Given the description of an element on the screen output the (x, y) to click on. 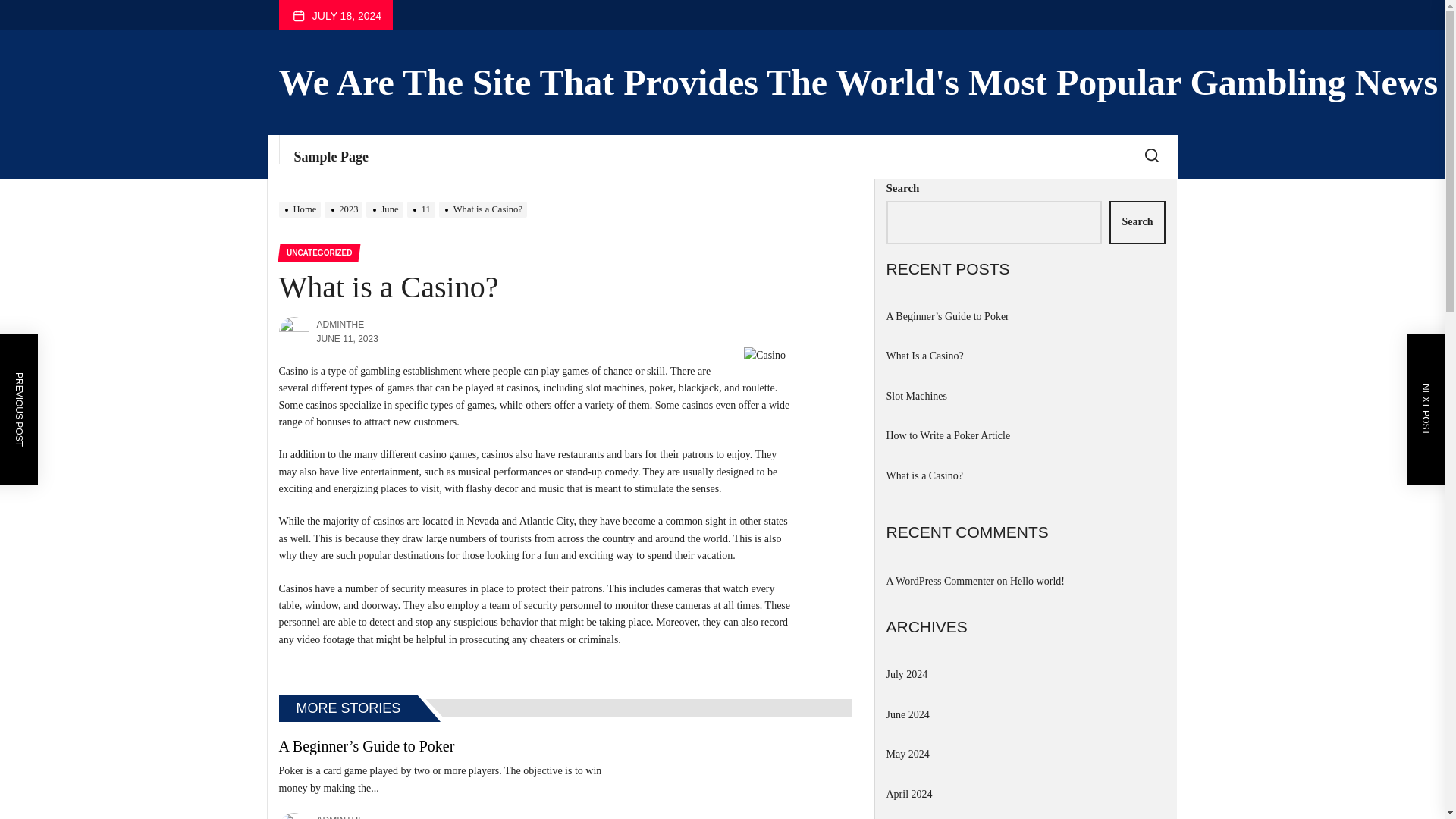
What is a Casino? (485, 208)
2023 (345, 208)
JUNE 11, 2023 (347, 338)
11 (423, 208)
ADMINTHE (341, 324)
UNCATEGORIZED (318, 252)
Home (301, 208)
ADMINTHE (341, 816)
Sample Page (331, 157)
June (386, 208)
